Given the description of an element on the screen output the (x, y) to click on. 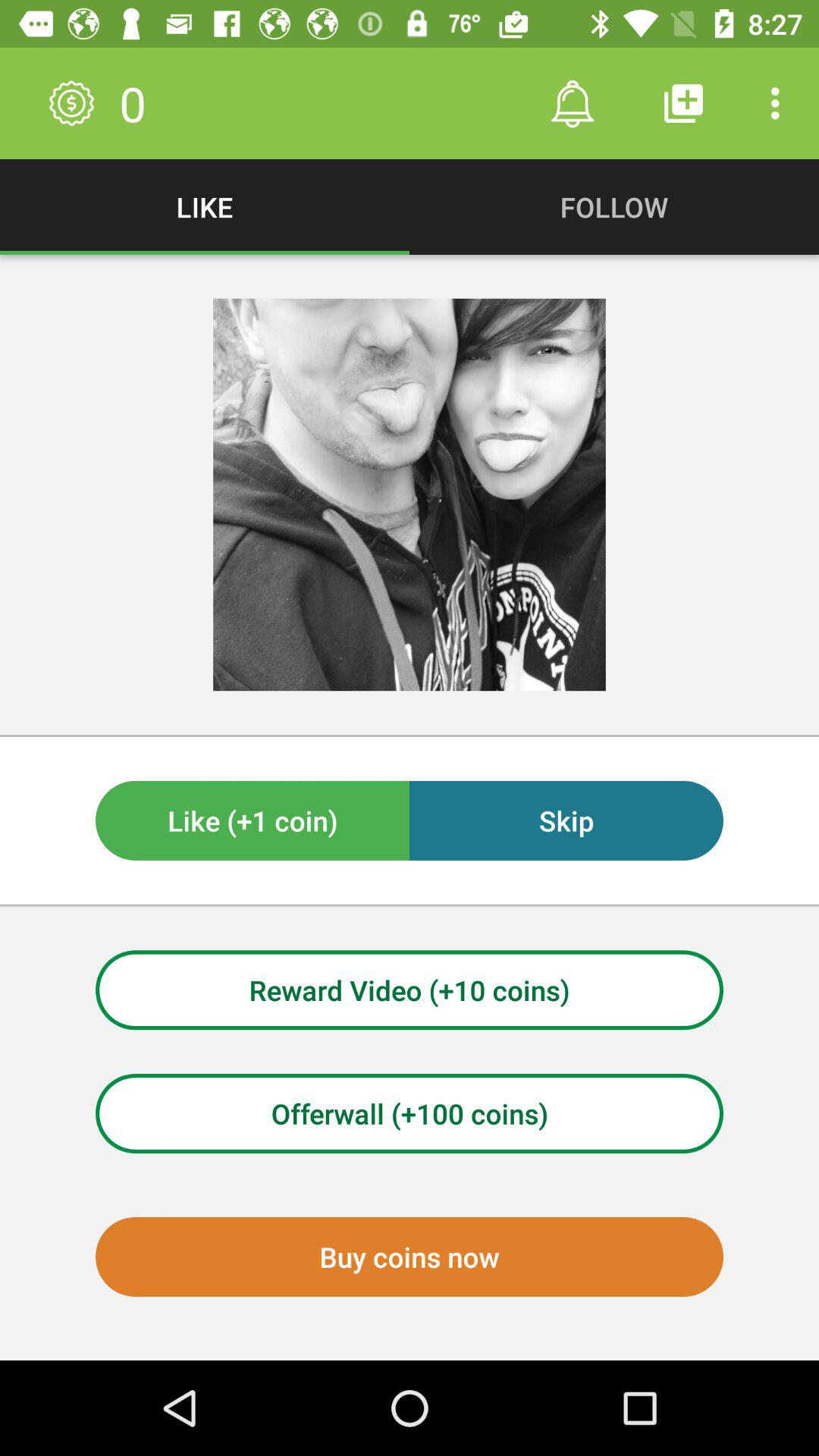
jump to offerwall (+100 coins) icon (409, 1113)
